Given the description of an element on the screen output the (x, y) to click on. 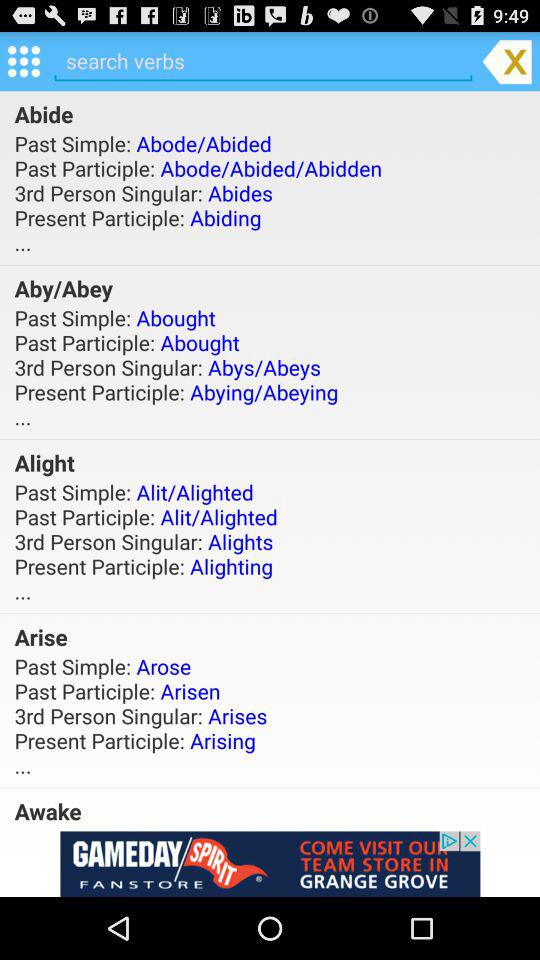
exit the app (506, 60)
